Given the description of an element on the screen output the (x, y) to click on. 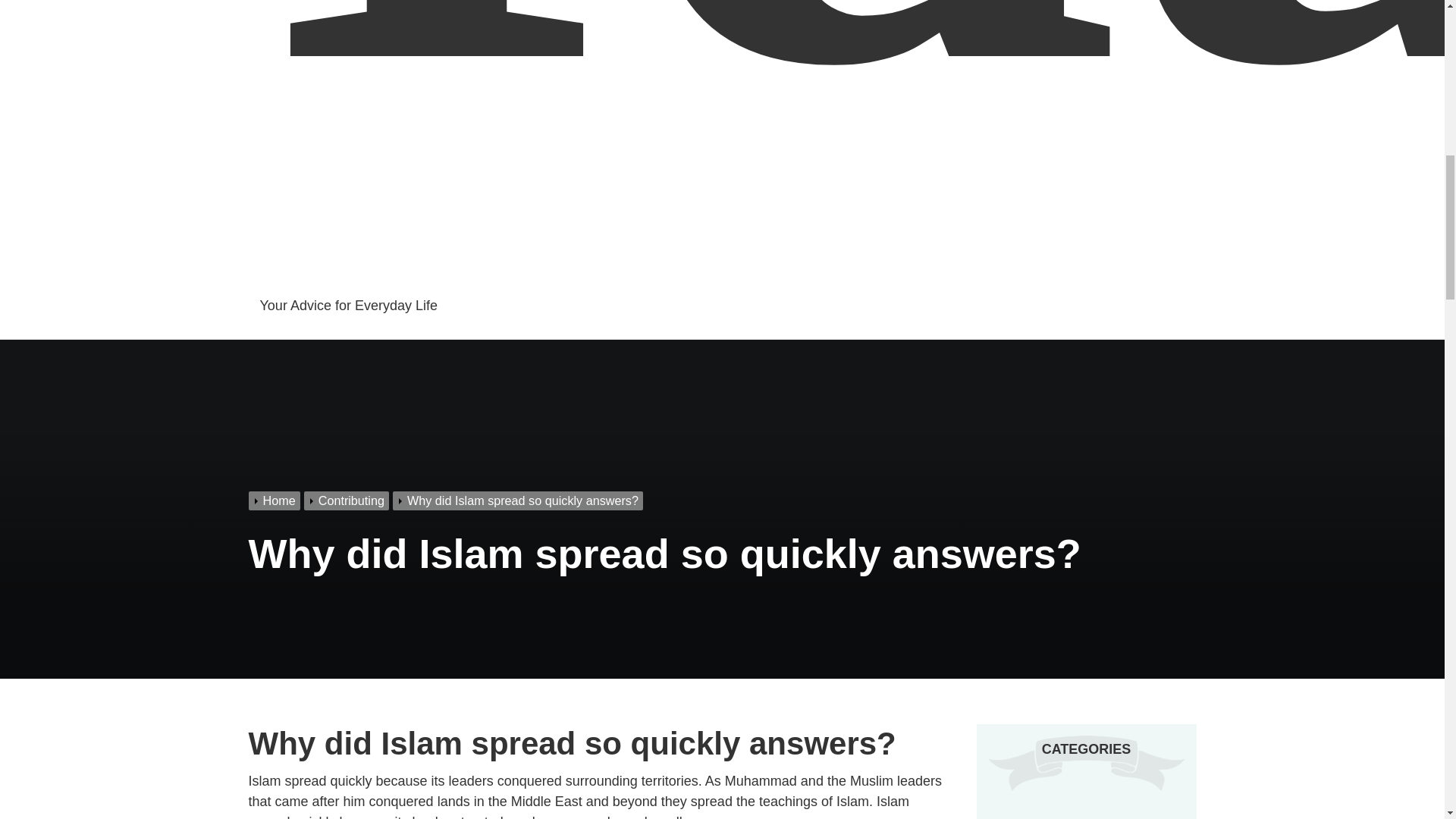
Contributing (348, 499)
Contributing (1038, 818)
Home (276, 499)
Why did Islam spread so quickly answers? (519, 499)
